Given the description of an element on the screen output the (x, y) to click on. 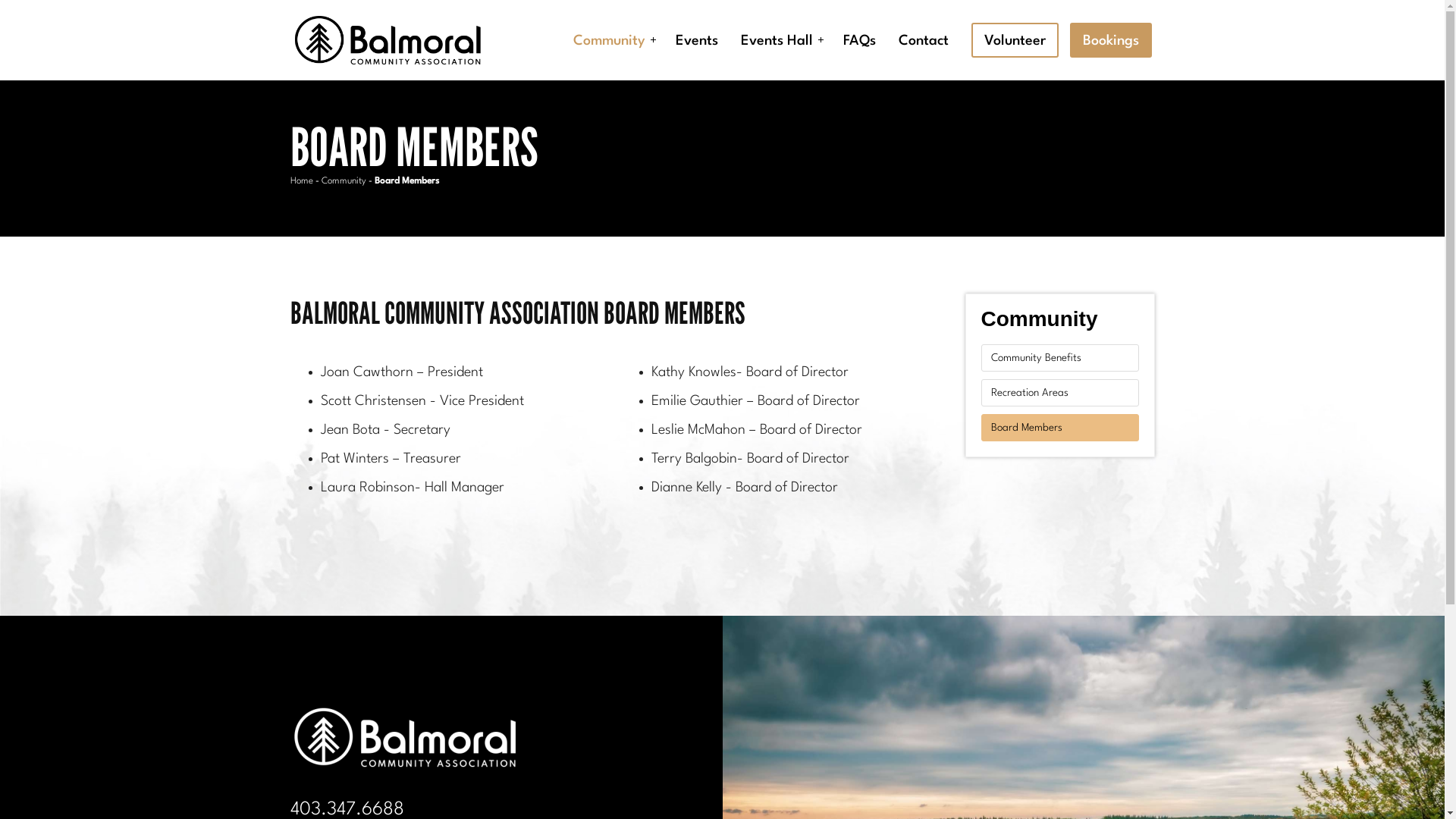
Community Benefits Element type: text (1060, 357)
Volunteer Element type: text (1014, 39)
Recreation Areas Element type: text (1060, 392)
Balmoral Community Association Element type: hover (387, 40)
Balmoral Community Association  Element type: hover (404, 737)
Events Element type: text (696, 40)
Contact Element type: text (923, 40)
Bookings Element type: text (1110, 39)
Events Hall Element type: text (780, 40)
Community Element type: text (343, 180)
Home Element type: text (300, 180)
Community Element type: text (612, 40)
Board Members Element type: text (1060, 427)
FAQs Element type: text (859, 40)
Community Element type: text (1060, 315)
